Given the description of an element on the screen output the (x, y) to click on. 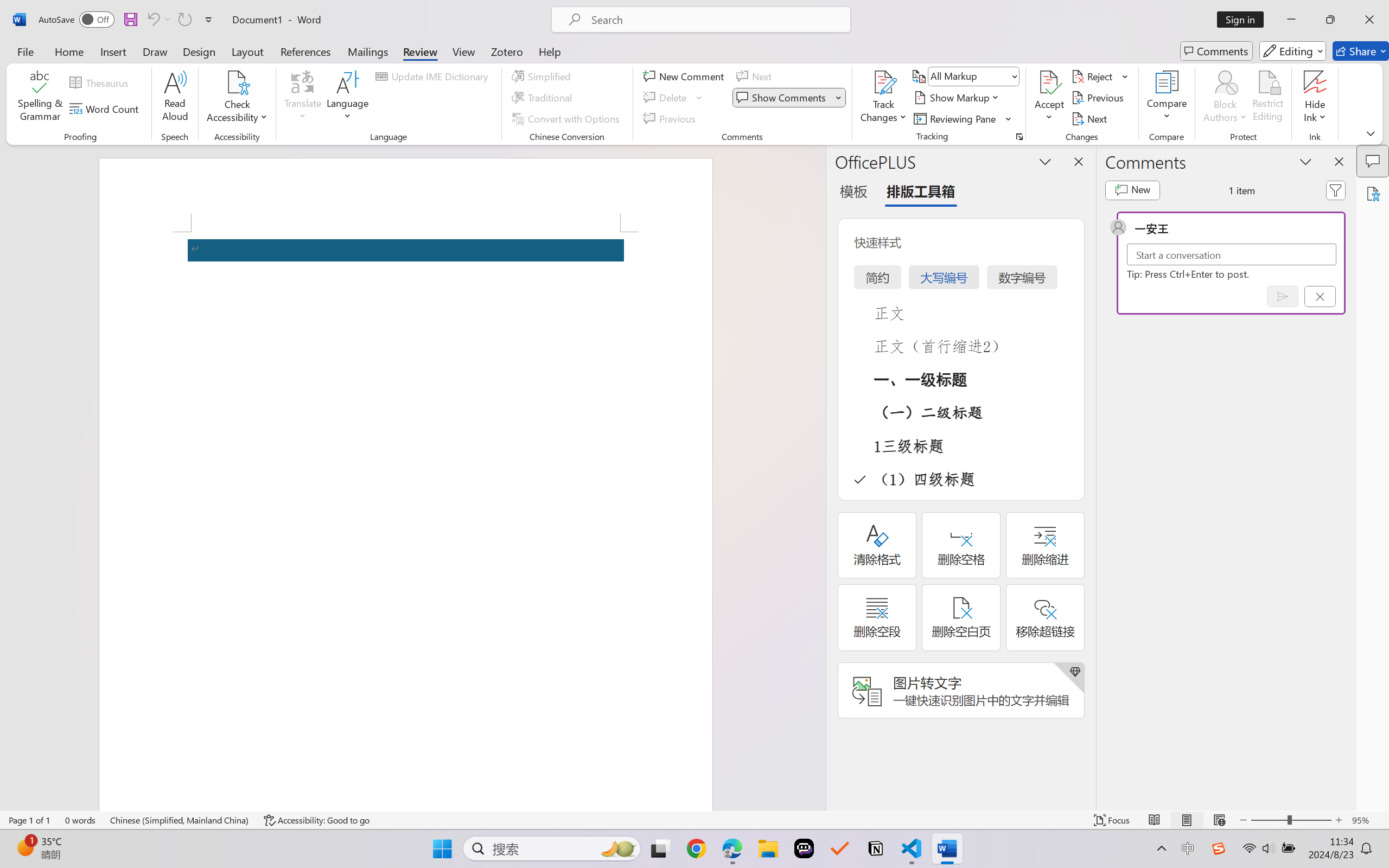
Track Changes (883, 81)
Sign in (1244, 19)
Block Authors (1224, 81)
Simplified (542, 75)
Thesaurus... (101, 82)
Display for Review (973, 75)
Show Markup (957, 97)
